Given the description of an element on the screen output the (x, y) to click on. 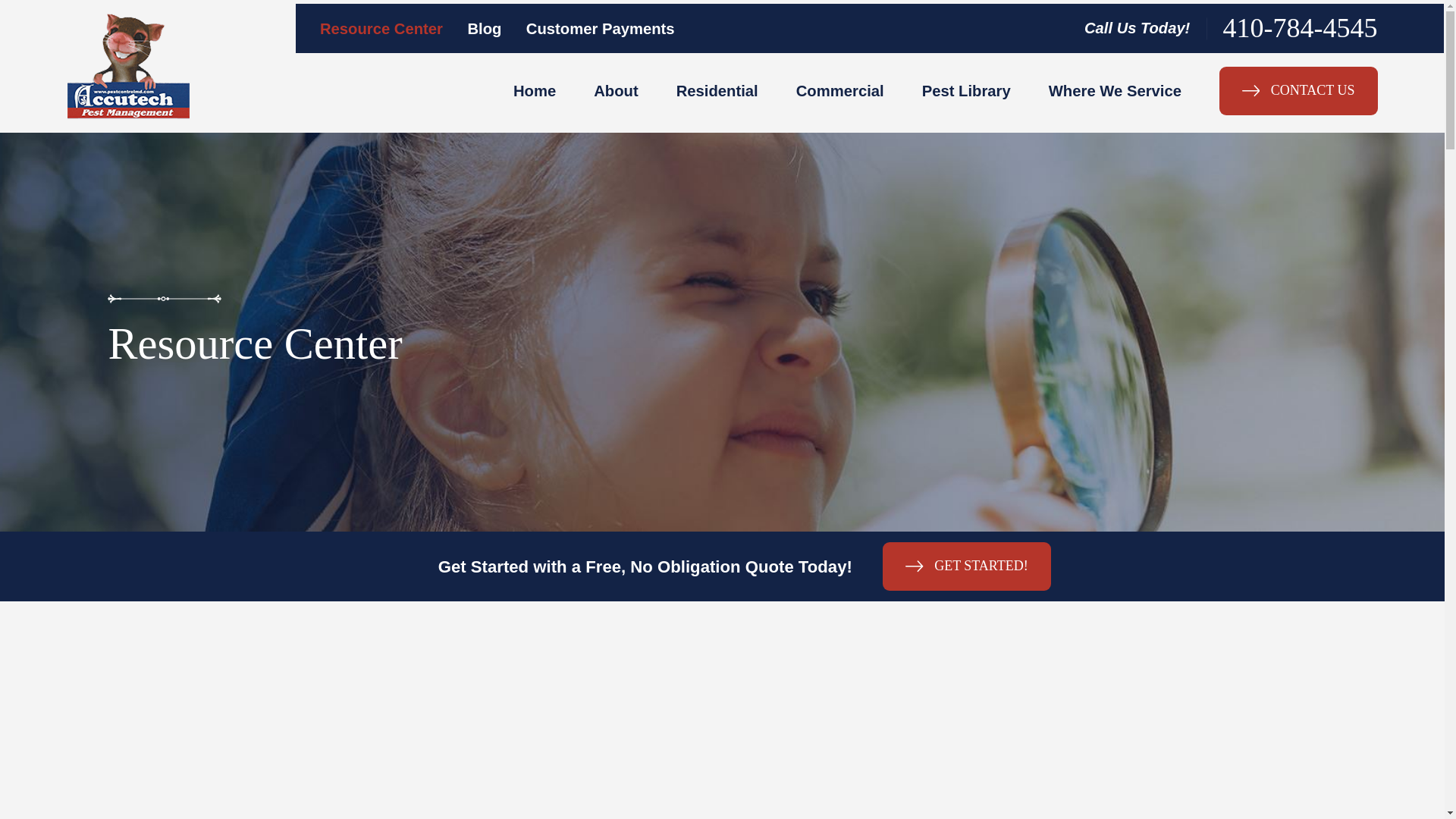
Home (534, 90)
About (615, 90)
Blog (483, 28)
Pest Library (965, 90)
Resource Center (381, 28)
Residential (717, 90)
Home (127, 65)
Where We Service (1114, 90)
Commercial (839, 90)
Customer Payments (600, 28)
